Given the description of an element on the screen output the (x, y) to click on. 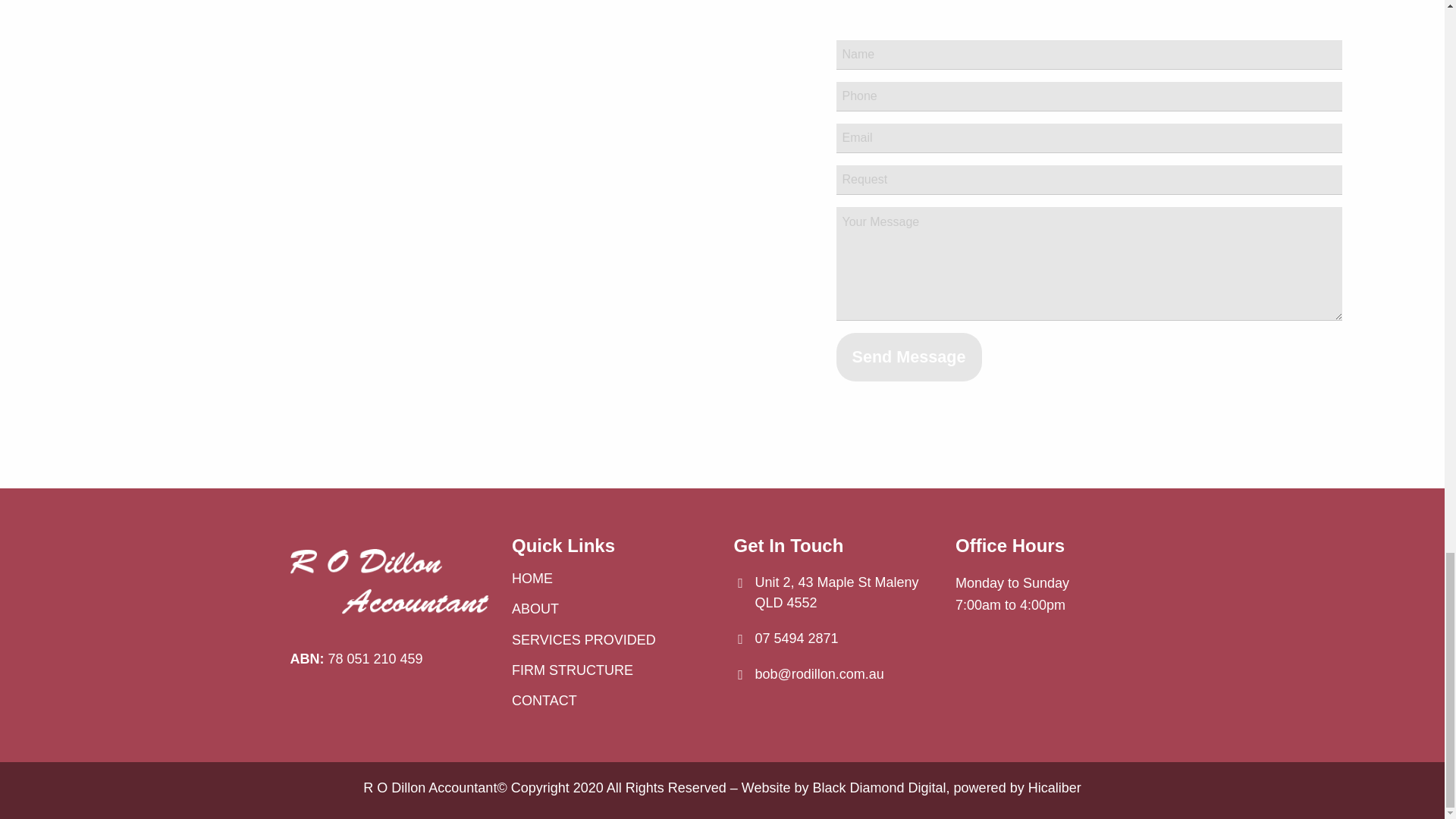
07 5494 2871 (796, 638)
CONTACT (611, 700)
FIRM STRUCTURE (611, 670)
Send Message (908, 356)
SERVICES PROVIDED (611, 639)
ABOUT (611, 608)
HOME (611, 578)
Send Message (908, 356)
